Given the description of an element on the screen output the (x, y) to click on. 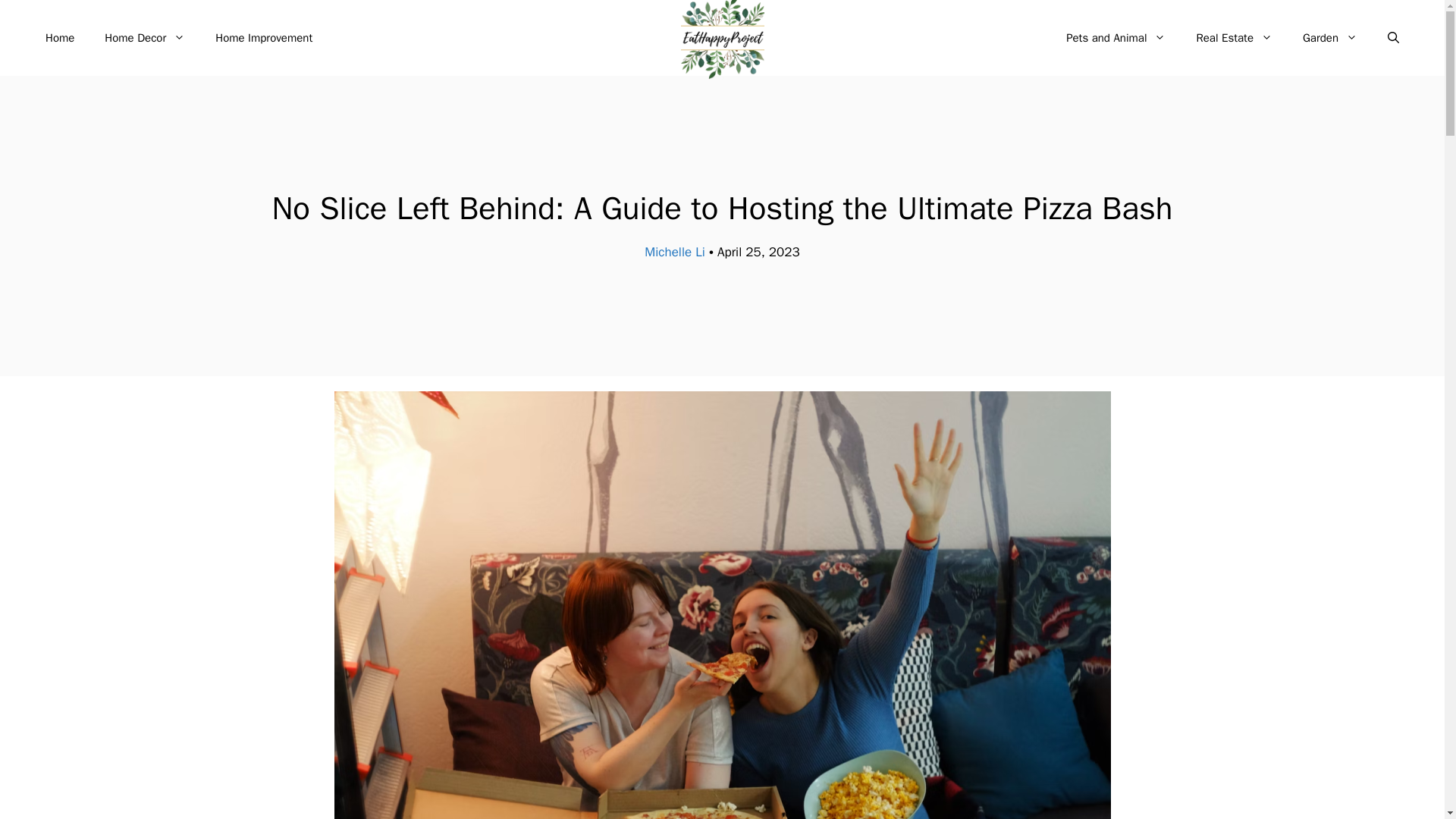
Menu Item Separator (689, 37)
Real Estate (1233, 37)
Home Improvement (263, 37)
Home Decor (144, 37)
Pets and Animal (1115, 37)
Home (59, 37)
Garden (1330, 37)
View all posts by Michelle Li (674, 252)
